Given the description of an element on the screen output the (x, y) to click on. 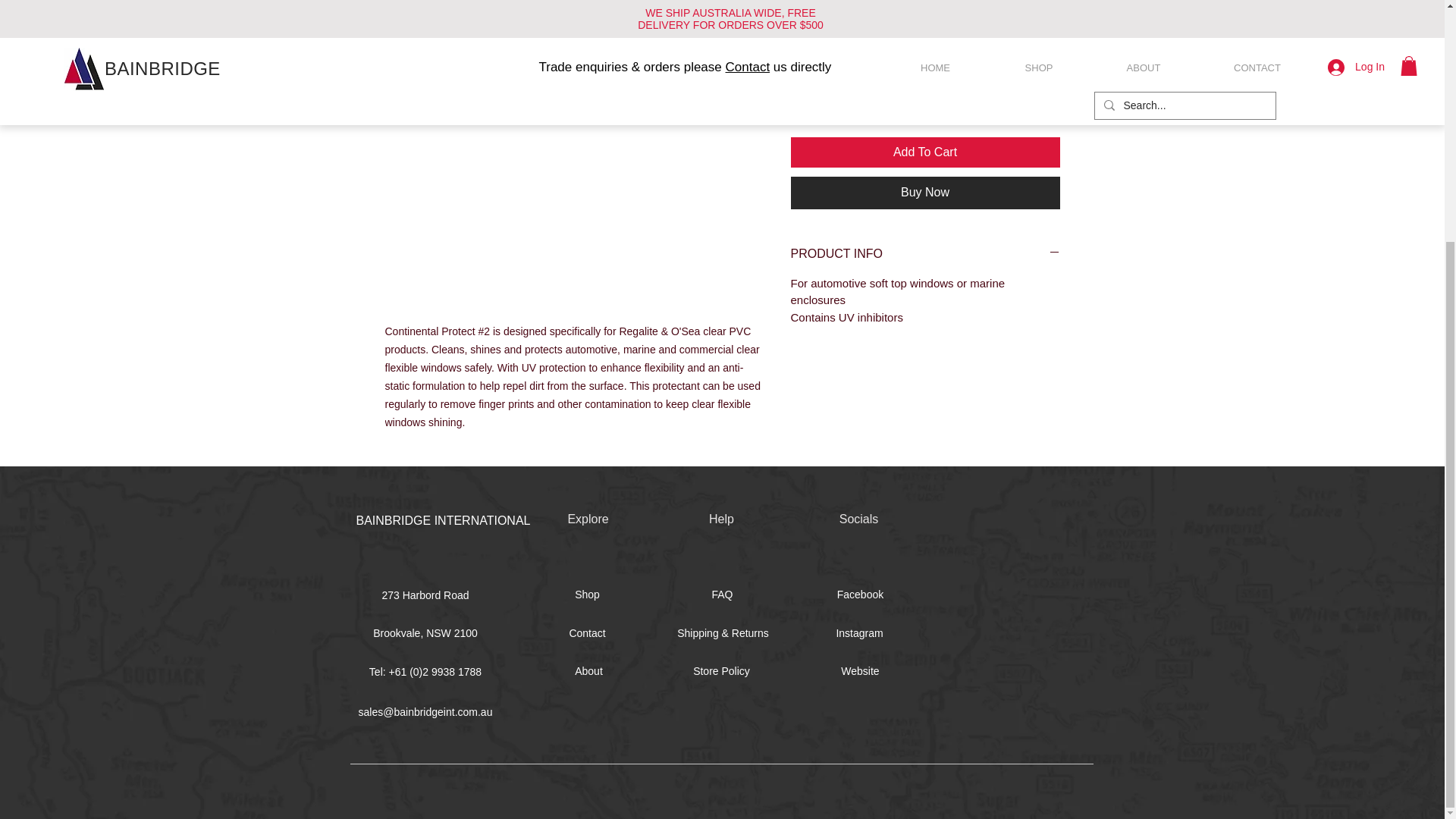
Shop (588, 594)
About (589, 670)
Add To Cart (924, 152)
PRODUCT INFO (924, 253)
1 (818, 97)
Contact (588, 632)
Website (860, 670)
650ml (924, 30)
BAINBRIDGE INTERNATIONAL (443, 520)
Buy Now (924, 192)
